Given the description of an element on the screen output the (x, y) to click on. 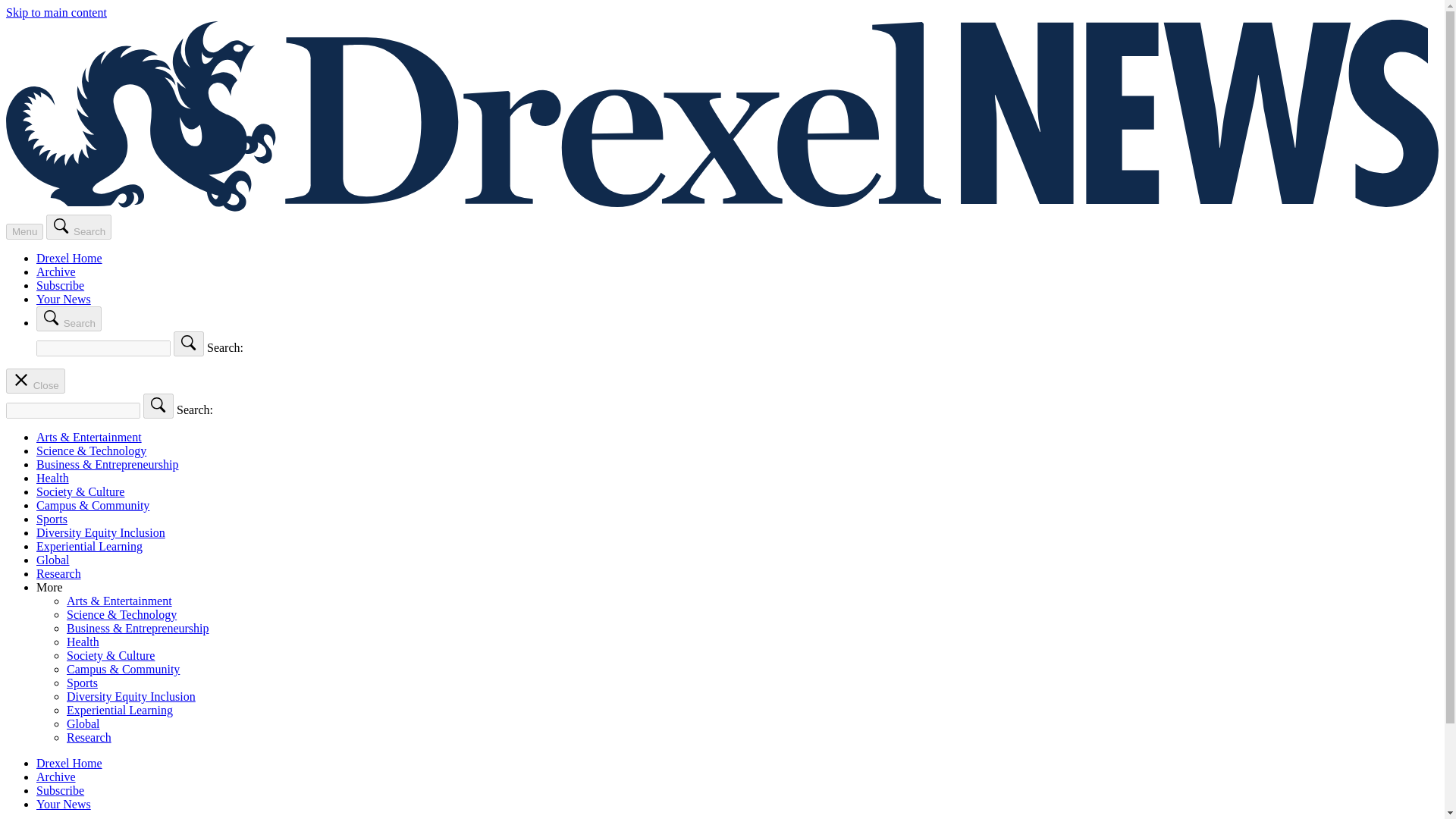
Diversity Equity Inclusion (100, 532)
Archive (55, 776)
Search (68, 318)
Diversity Equity Inclusion (130, 696)
Sports (81, 682)
Your News (63, 803)
Global (83, 723)
Your News (63, 298)
Experiential Learning (89, 545)
Archive (55, 271)
Experiential Learning (119, 709)
Global (52, 559)
Search (79, 226)
Close (35, 380)
Skip to main content (55, 11)
